Given the description of an element on the screen output the (x, y) to click on. 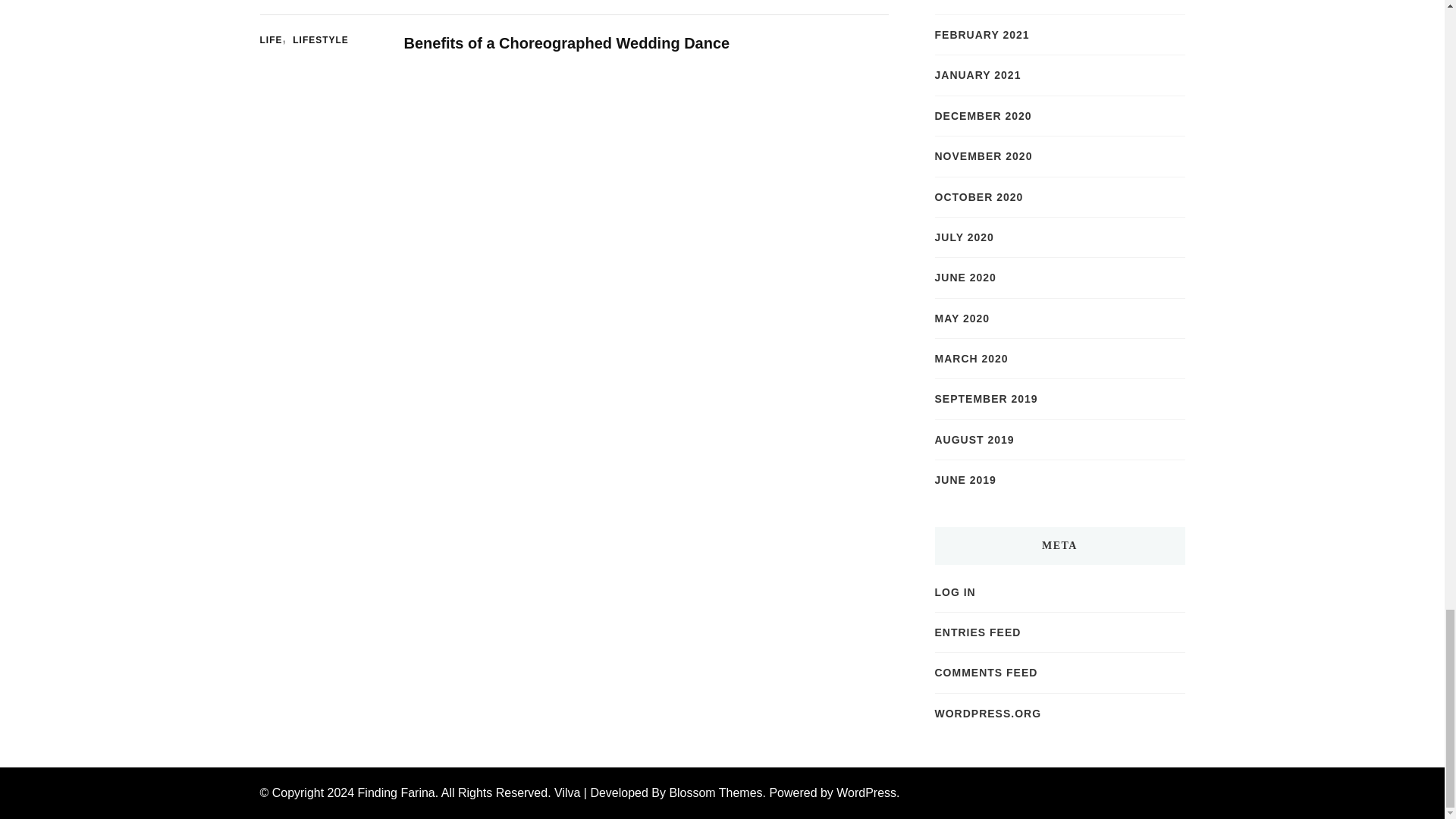
LIFE (274, 40)
LIFESTYLE (320, 40)
Benefits of a Choreographed Wedding Dance (566, 43)
